Given the description of an element on the screen output the (x, y) to click on. 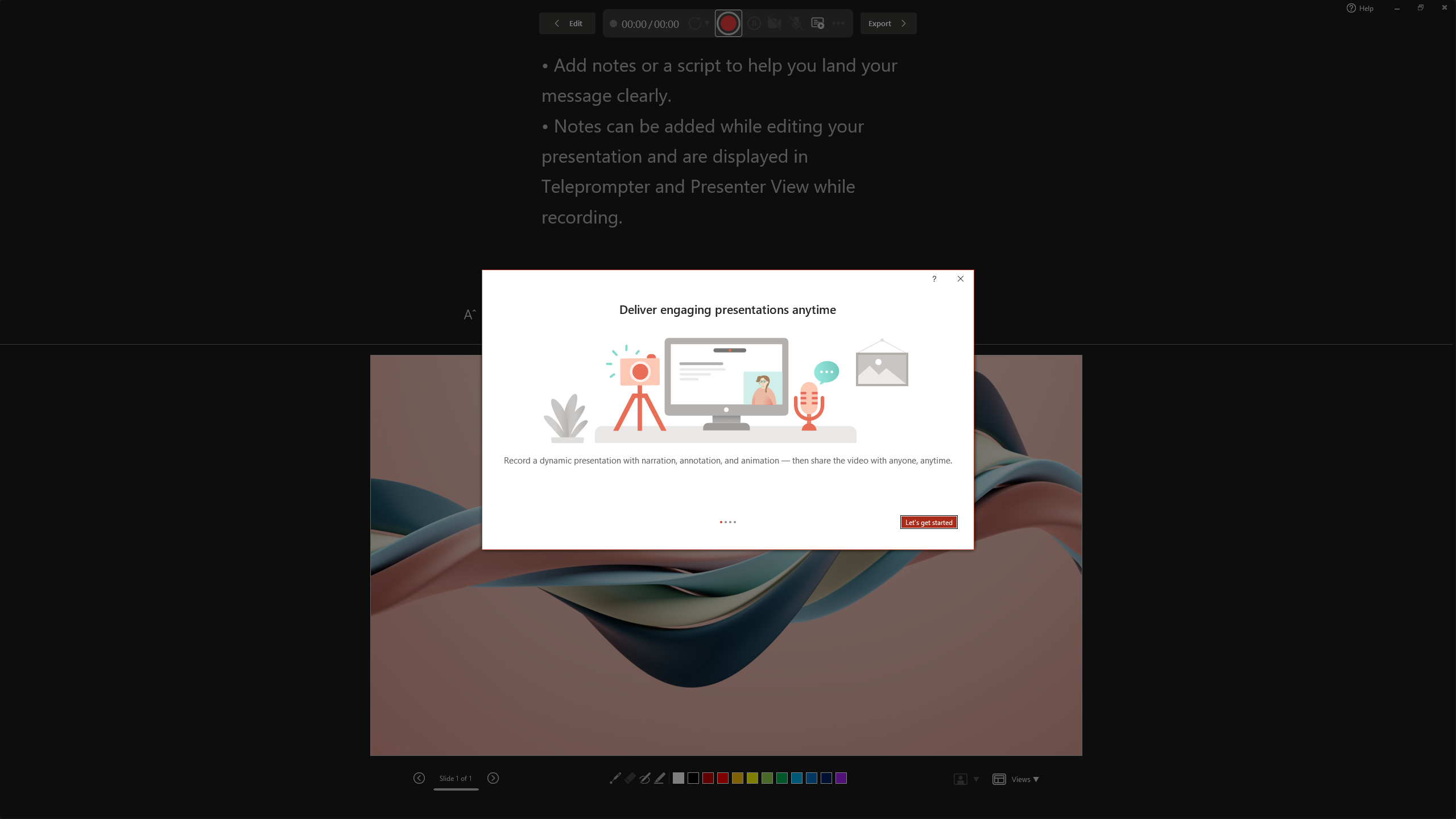
Facet (138, 56)
Slice (508, 56)
Format Background (1360, 58)
Integral Variant 4 (1270, 56)
